Given the description of an element on the screen output the (x, y) to click on. 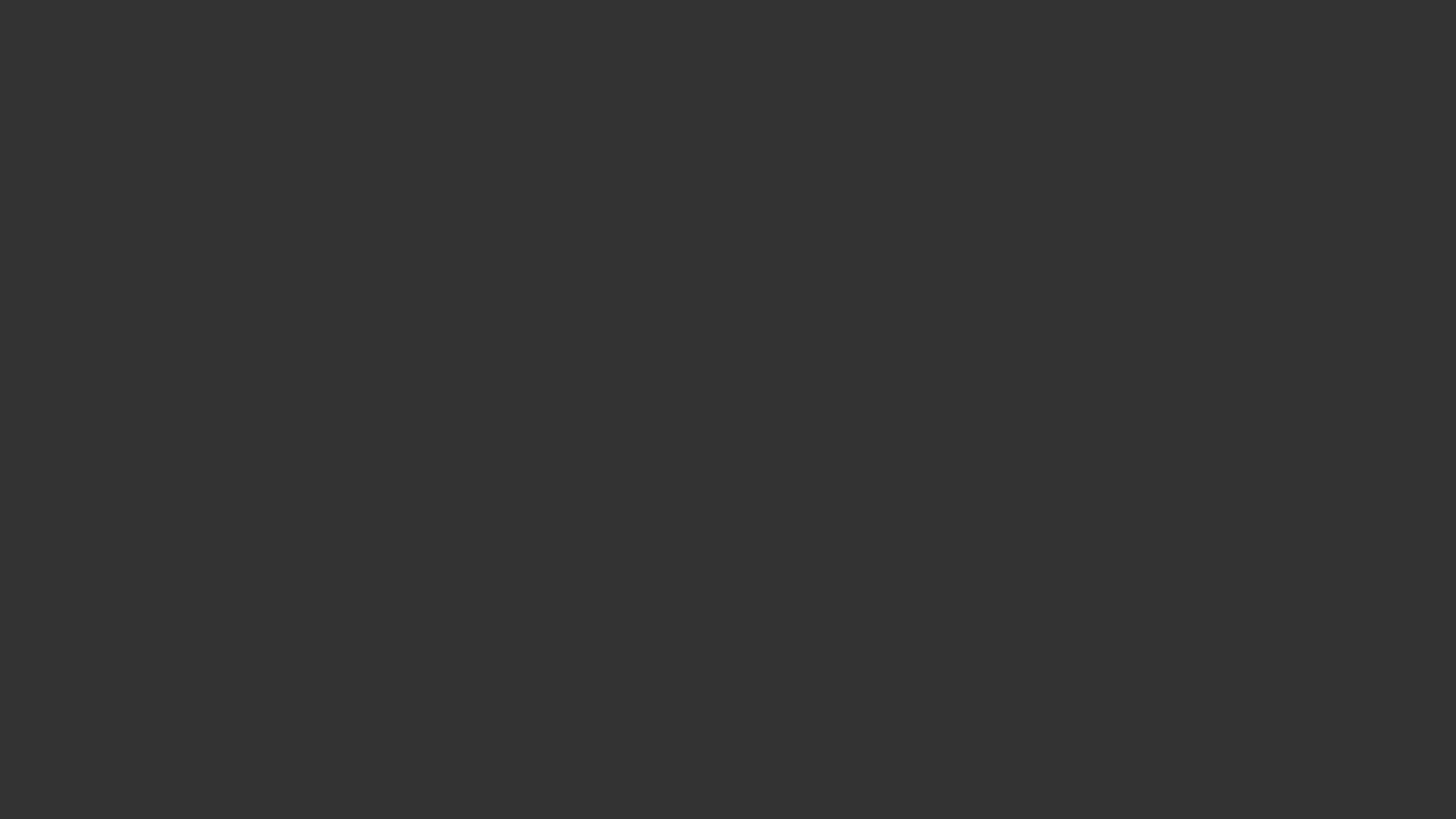
Anmeldeformular Aktive Element type: text (121, 310)
Sponsor Element type: text (49, 338)
Cool and Clean Element type: text (98, 352)
Anmeldeformular Schnupperkurs Element type: text (141, 282)
Trainerstab BCAesch Element type: text (112, 255)
Anmeldeformular Passiv Element type: text (121, 325)
Login Element type: text (14, 19)
BC Aesch Element type: text (24, 6)
Vorstand Element type: text (81, 87)
Interclub Element type: text (82, 199)
Home Element type: text (44, 59)
Anmeldeformulare Element type: text (76, 269)
Junior-Tour Element type: text (88, 241)
Erstellt mit ClubDesk Vereinssoftware Element type: text (74, 468)
Impressum Element type: text (26, 493)
Datenschutz Element type: text (29, 507)
Verhaltenskodex Element type: text (100, 157)
Geschichte Element type: text (87, 101)
Kader/Training Element type: text (97, 129)
Anmeldeformular Junior Element type: text (120, 297)
Team Smaesch Element type: text (66, 171)
Projekte/Events Element type: text (98, 115)
Sporthallen Element type: text (88, 144)
Verein Element type: text (46, 74)
Junior-Abteilung Element type: text (71, 227)
Team Lead Element type: text (87, 185)
Trainerstab Team Smaesch Element type: text (125, 213)
